Given the description of an element on the screen output the (x, y) to click on. 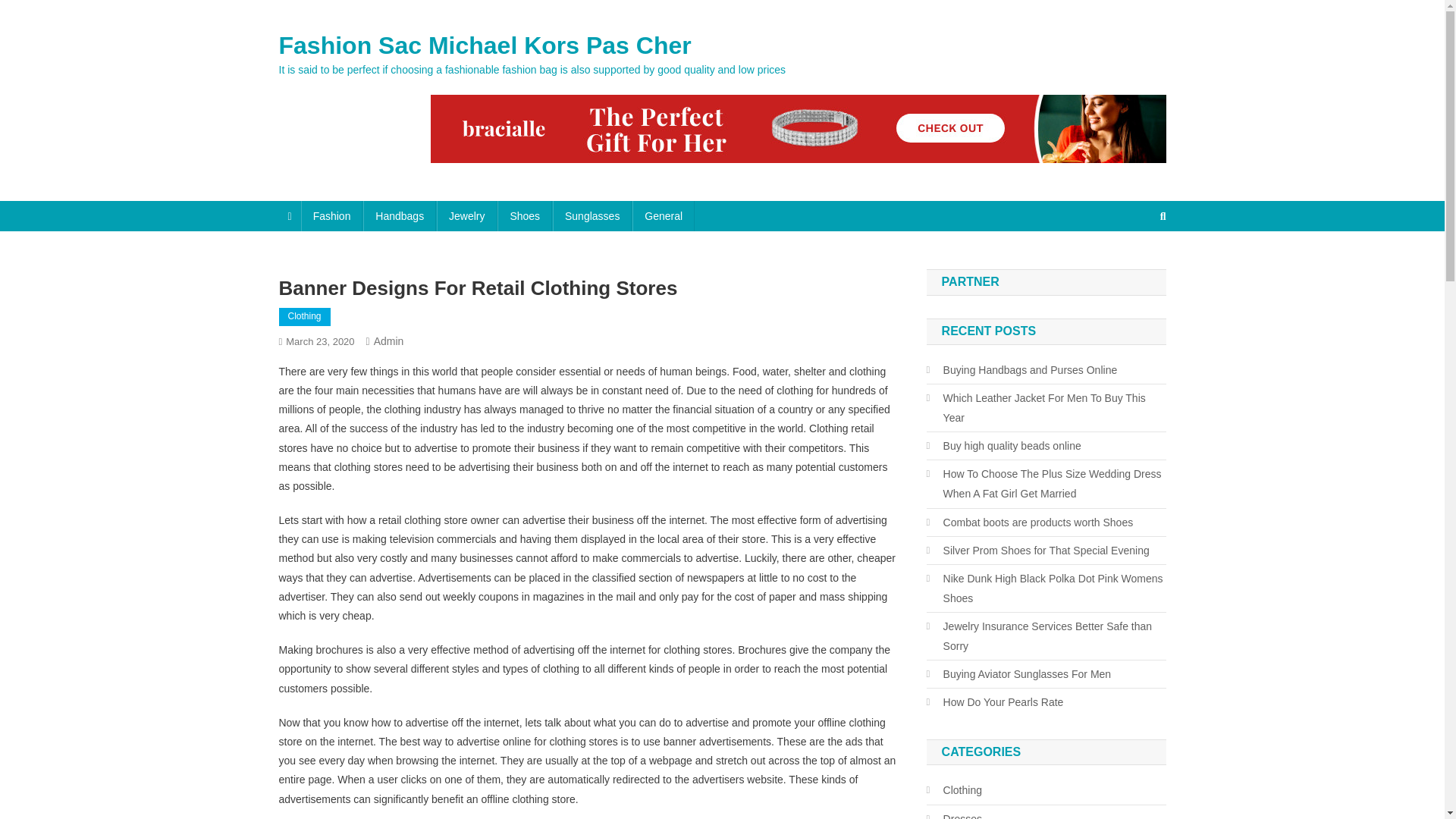
Jewelry (466, 215)
Shoes (524, 215)
Search (1133, 266)
March 23, 2020 (319, 341)
Which Leather Jacket For Men To Buy This Year (1046, 407)
Fashion Sac Michael Kors Pas Cher (485, 44)
How Do Your Pearls Rate (995, 701)
Fashion (331, 215)
Admin (389, 340)
Buying Handbags and Purses Online (1022, 370)
Combat boots are products worth Shoes (1030, 522)
Silver Prom Shoes for That Special Evening (1038, 550)
Buying Aviator Sunglasses For Men (1019, 673)
Clothing (304, 316)
